Given the description of an element on the screen output the (x, y) to click on. 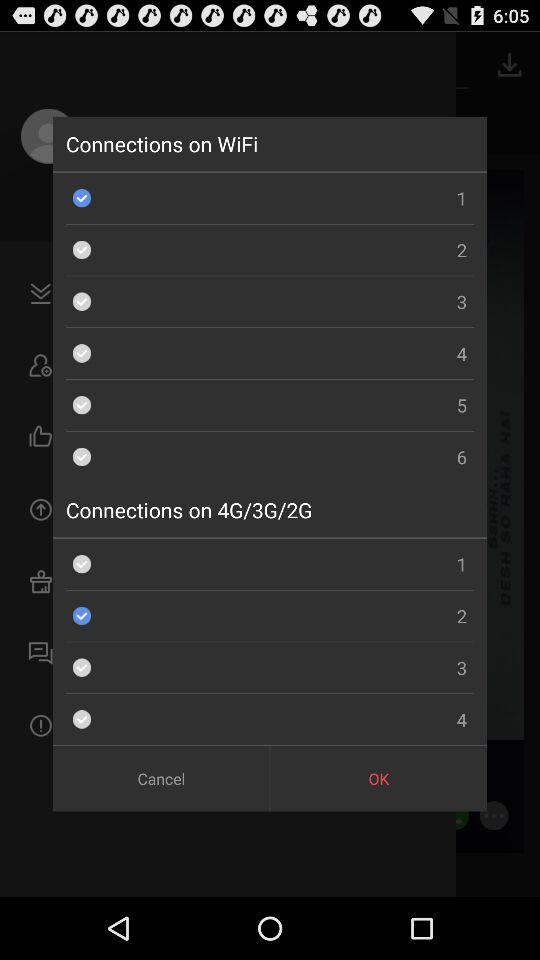
select cancel item (160, 778)
